Given the description of an element on the screen output the (x, y) to click on. 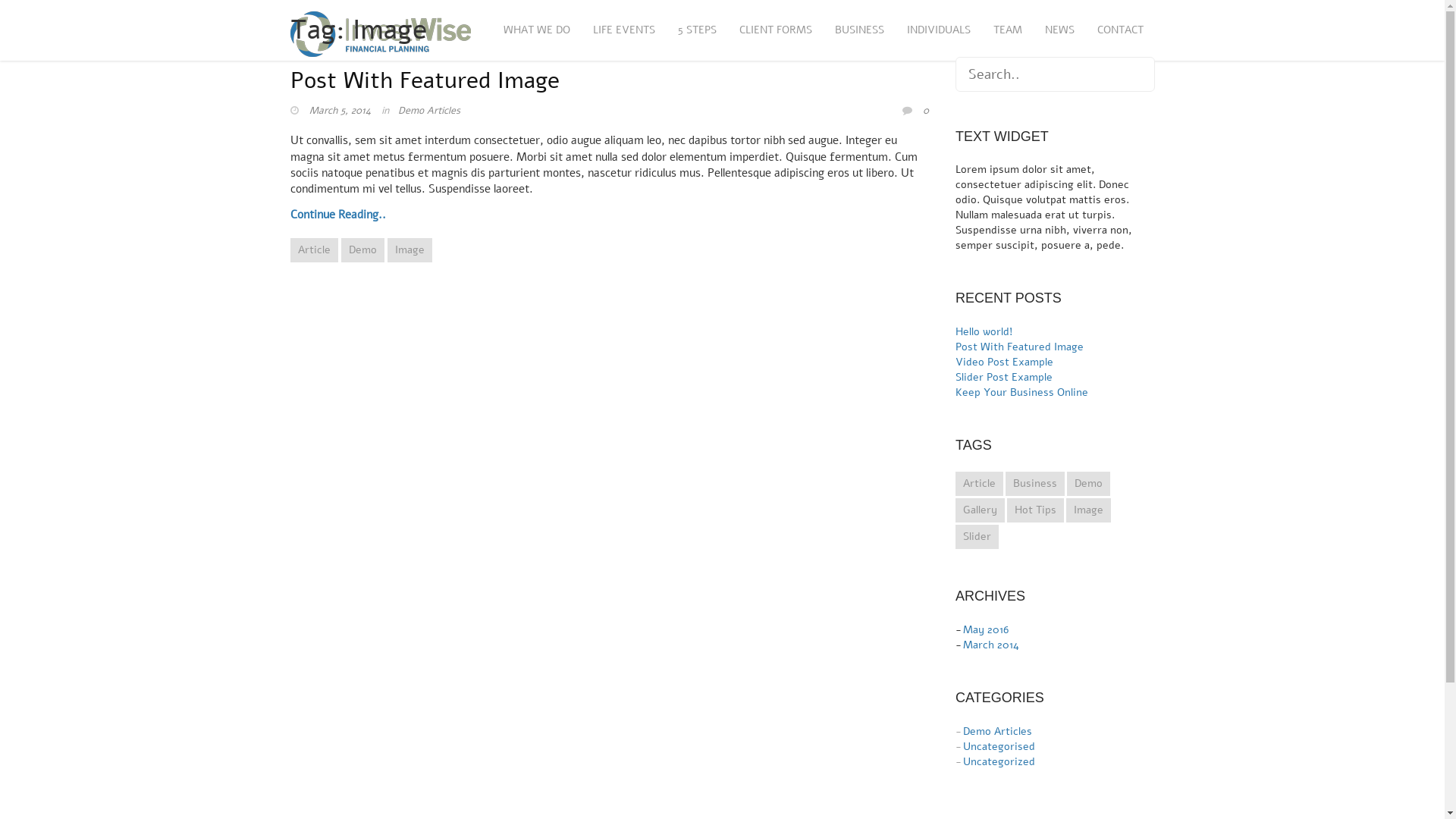
0 Element type: text (925, 110)
CONTACT Element type: text (1119, 30)
Slider Element type: text (976, 536)
Uncategorized Element type: text (999, 761)
Business Element type: text (1034, 483)
Demo Articles Element type: text (997, 731)
Go Element type: text (12, 9)
NEWS Element type: text (1058, 30)
Demo Articles Element type: text (428, 110)
INDIVIDUALS Element type: text (937, 30)
May 2016 Element type: text (985, 629)
Video Post Example Element type: text (1004, 361)
LIFE EVENTS Element type: text (622, 30)
March 5, 2014 Element type: text (339, 110)
Slider Post Example Element type: text (1003, 377)
Image Element type: text (408, 250)
5 STEPS Element type: text (696, 30)
CLIENT FORMS Element type: text (775, 30)
Hot Tips Element type: text (1035, 510)
TEAM Element type: text (1006, 30)
WHAT WE DO Element type: text (535, 30)
BUSINESS Element type: text (859, 30)
Demo Element type: text (1088, 483)
Keep Your Business Online Element type: text (1021, 392)
Image Element type: text (1088, 510)
Uncategorised Element type: text (999, 746)
Article Element type: text (313, 250)
Continue Reading.. Element type: text (610, 214)
Gallery Element type: text (979, 510)
Post With Featured Image Element type: text (1019, 346)
Article Element type: text (979, 483)
March 2014 Element type: text (991, 644)
Hello world! Element type: text (983, 331)
Post With Featured Image Element type: text (423, 80)
Demo Element type: text (362, 250)
